Given the description of an element on the screen output the (x, y) to click on. 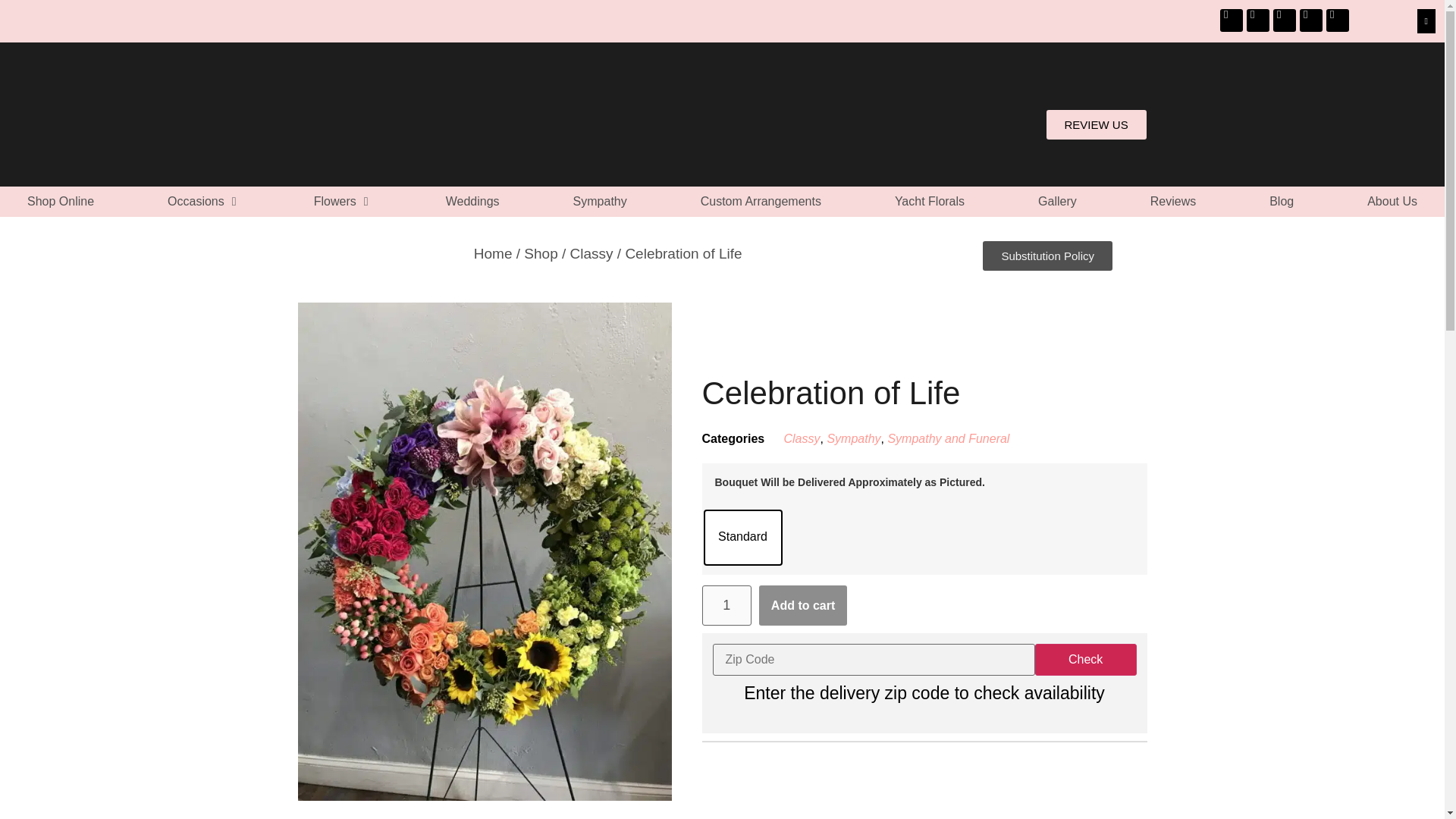
Shop Online (60, 201)
Check (1086, 659)
1 (726, 605)
REVIEW US (1096, 124)
Standard (742, 537)
